Given the description of an element on the screen output the (x, y) to click on. 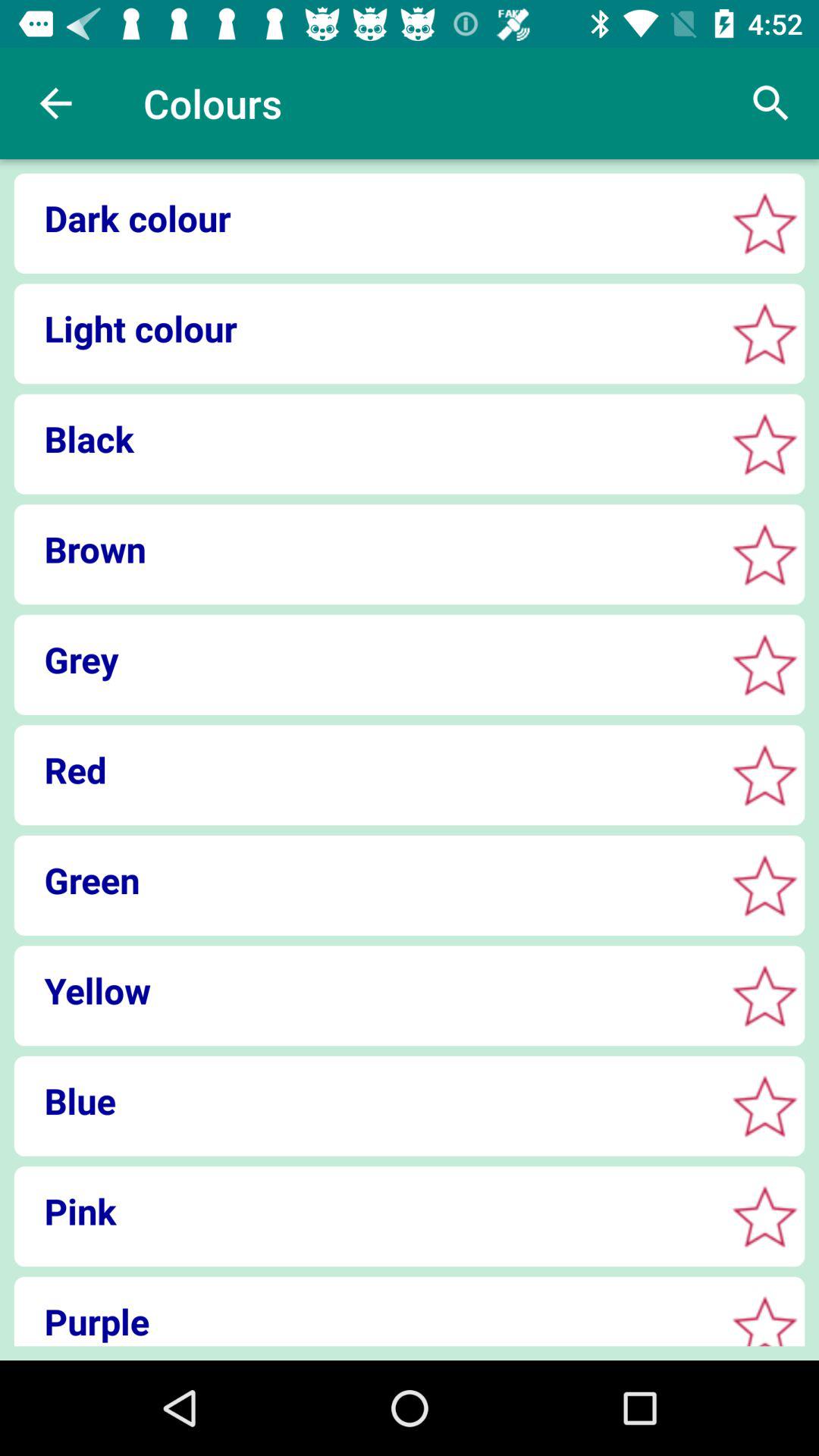
toggle favorite (764, 223)
